Given the description of an element on the screen output the (x, y) to click on. 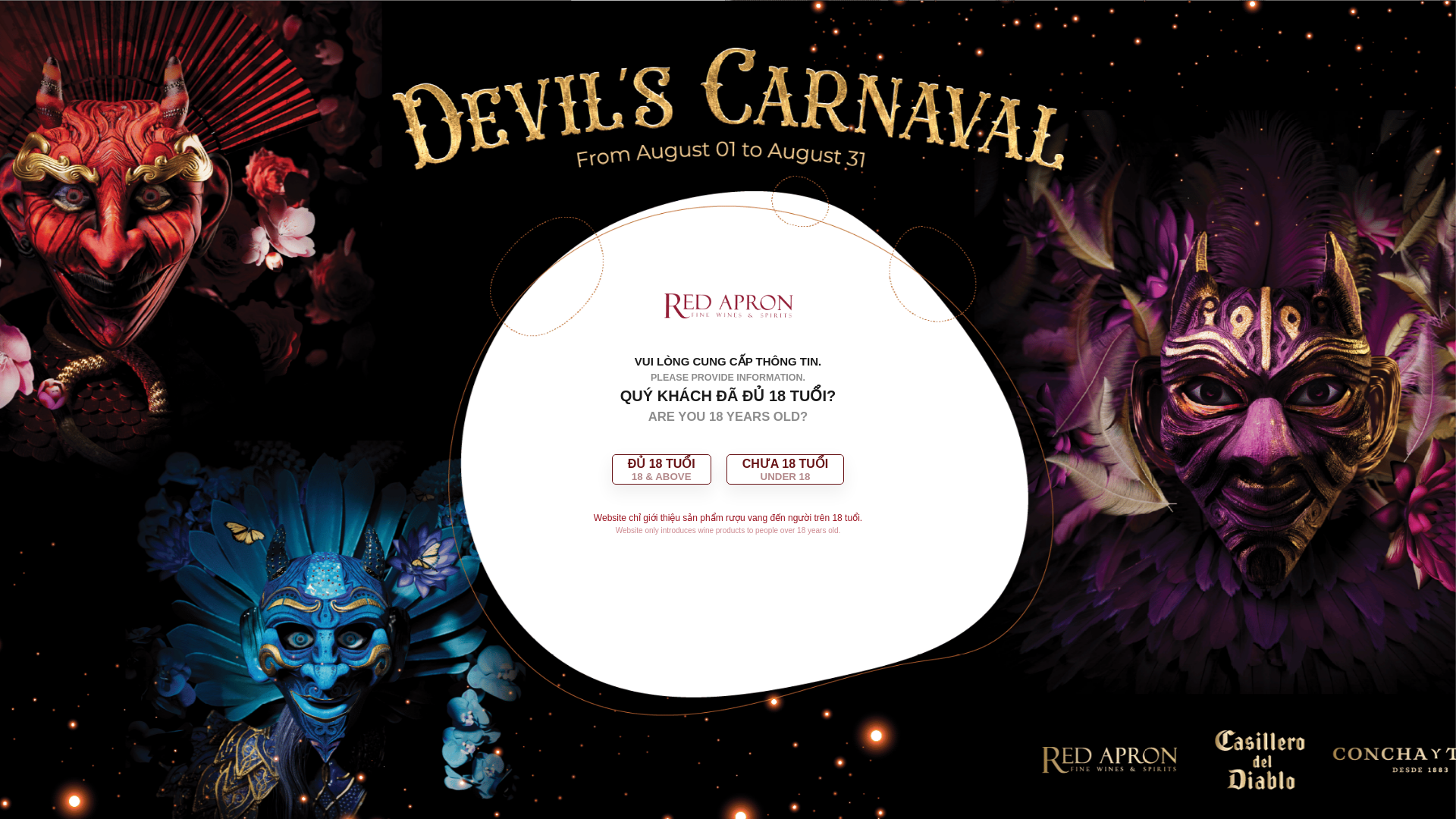
Wine School (1132, 74)
Find a shop (1016, 74)
1900 0245 (319, 20)
WINES (329, 120)
WINES (329, 120)
Cart (1110, 19)
0 (1110, 19)
